Given the description of an element on the screen output the (x, y) to click on. 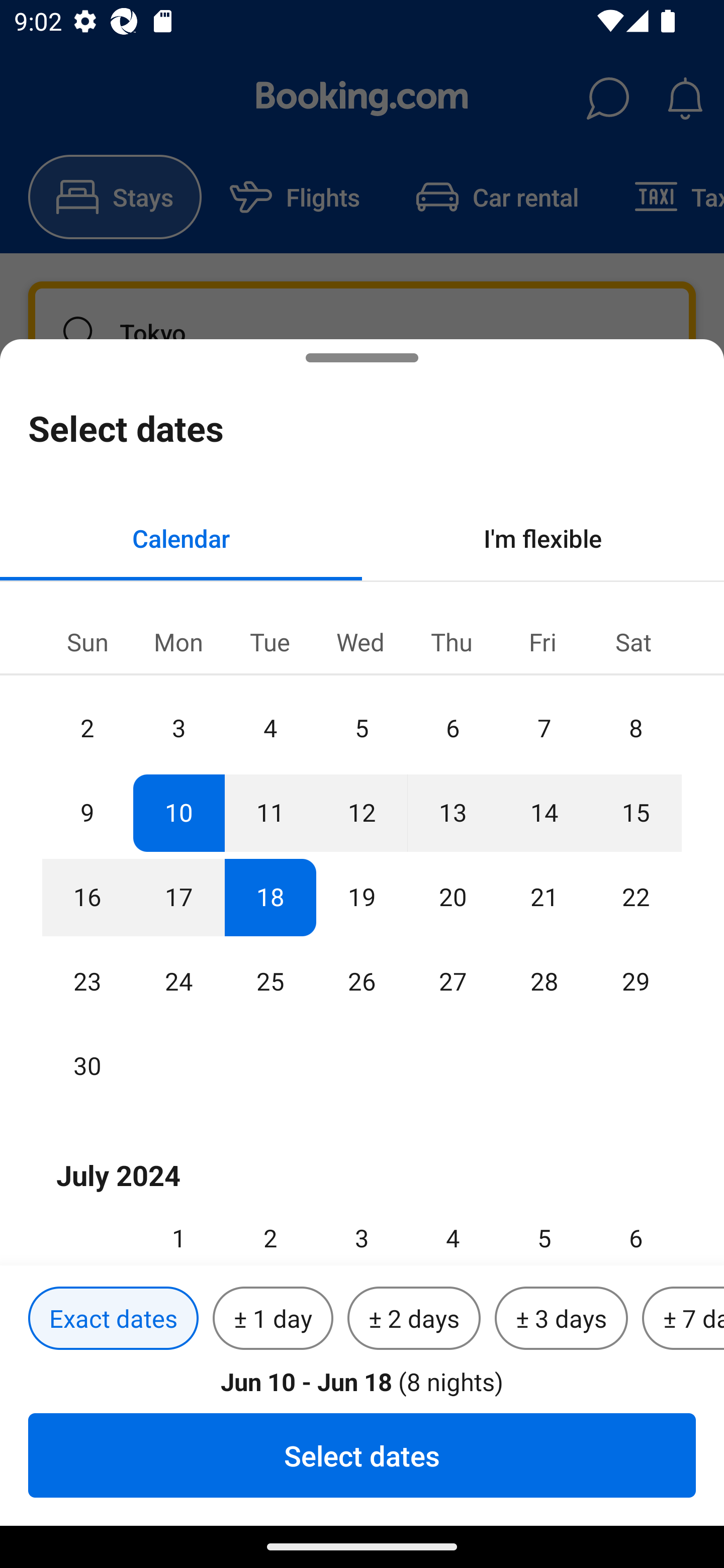
I'm flexible (543, 537)
Exact dates (113, 1318)
± 1 day (272, 1318)
± 2 days (413, 1318)
± 3 days (560, 1318)
± 7 days (683, 1318)
Select dates (361, 1454)
